Given the description of an element on the screen output the (x, y) to click on. 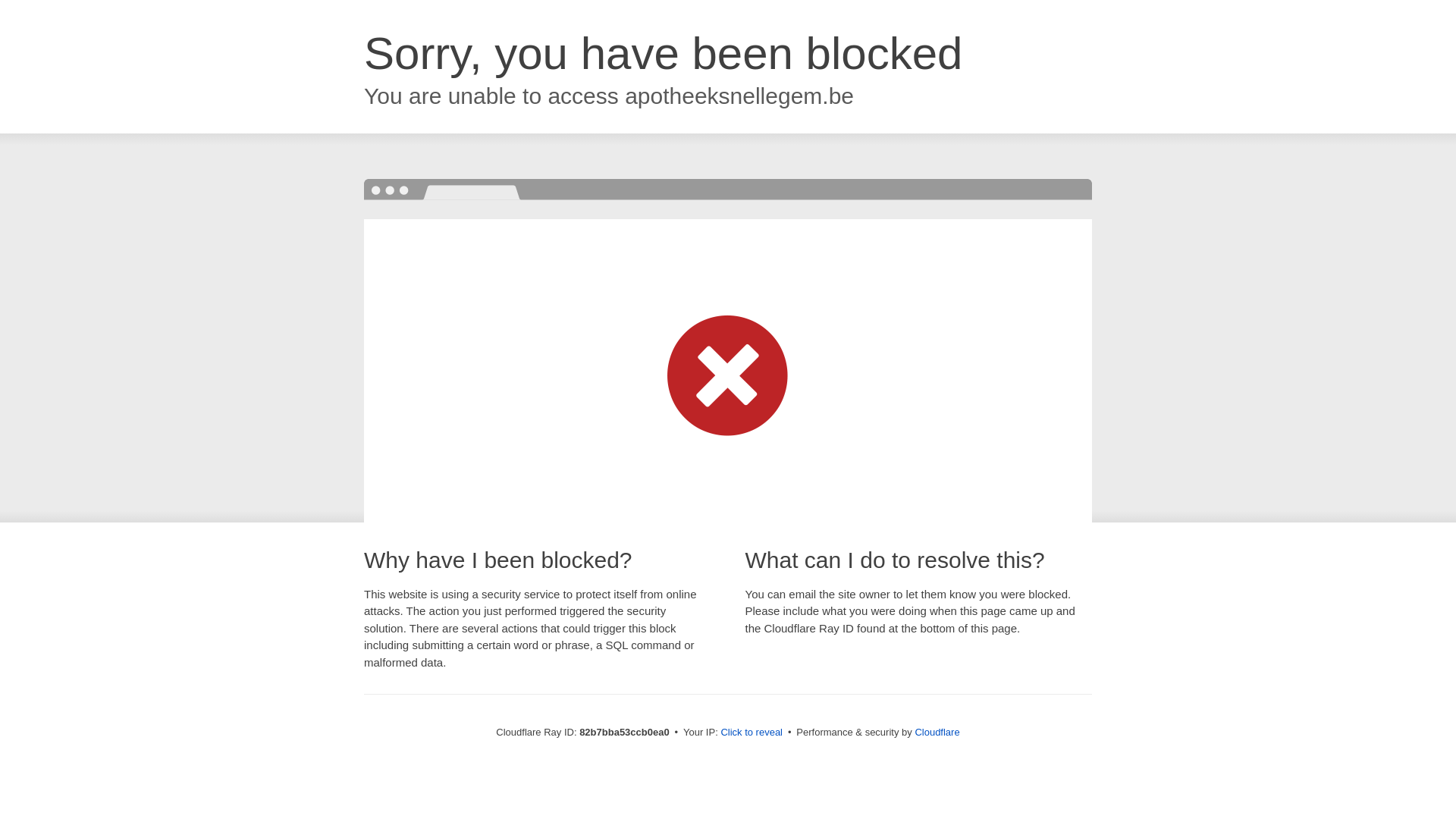
Click to reveal Element type: text (751, 732)
Cloudflare Element type: text (936, 731)
